Given the description of an element on the screen output the (x, y) to click on. 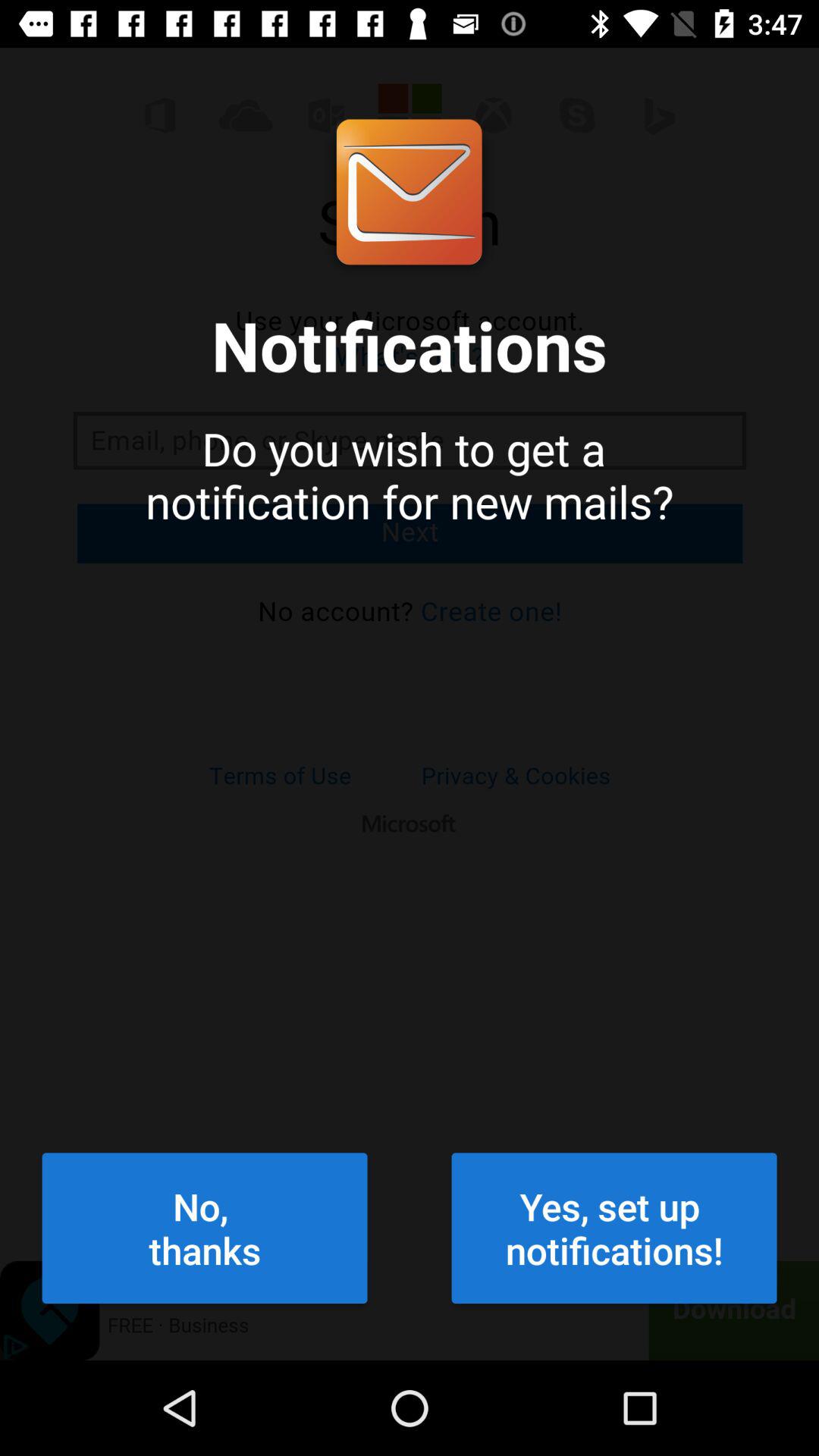
open the icon to the left of yes set up (204, 1227)
